Given the description of an element on the screen output the (x, y) to click on. 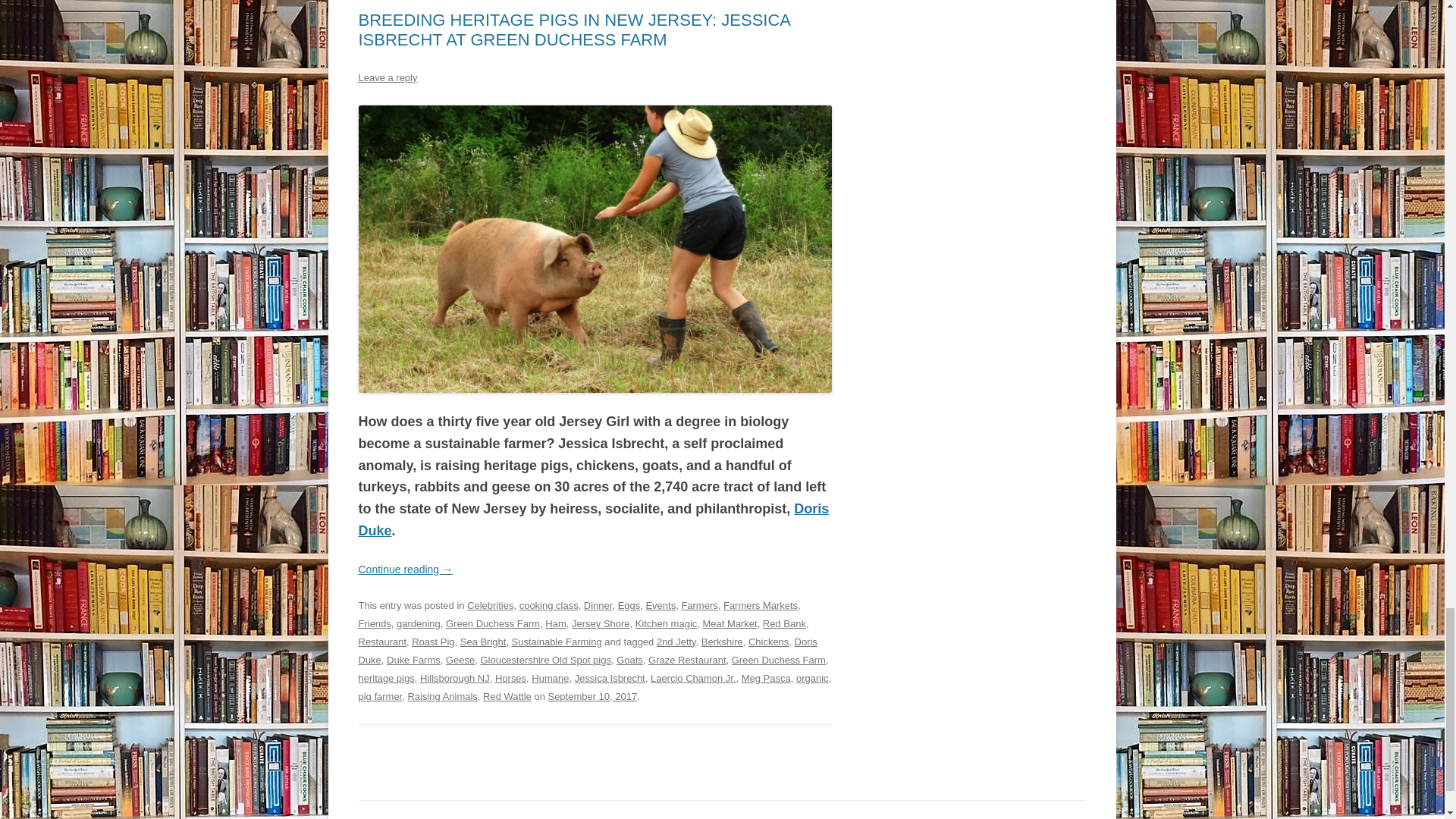
9:56 pm (592, 696)
